Given the description of an element on the screen output the (x, y) to click on. 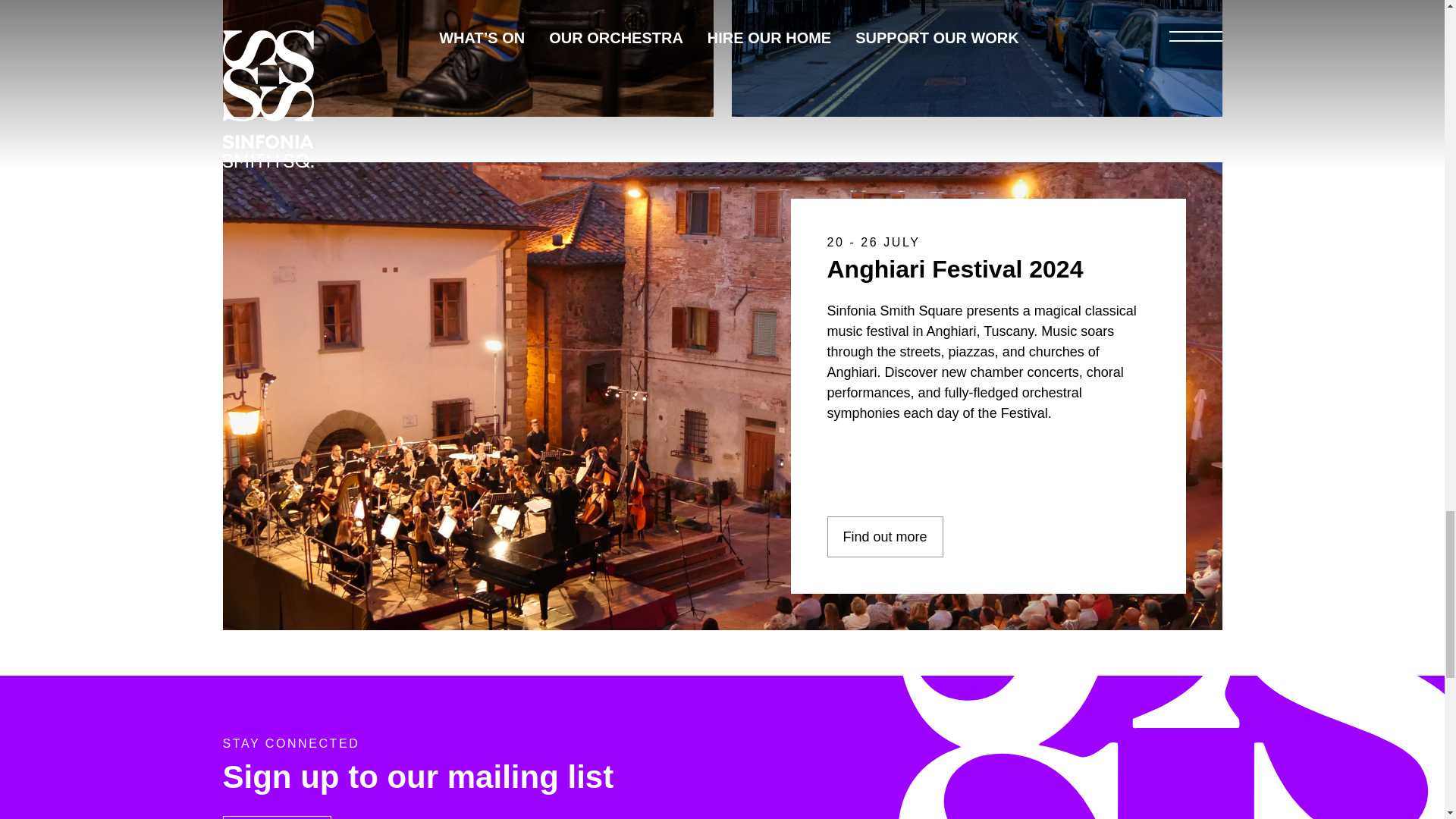
Find out more (884, 536)
Sign up (975, 58)
